Given the description of an element on the screen output the (x, y) to click on. 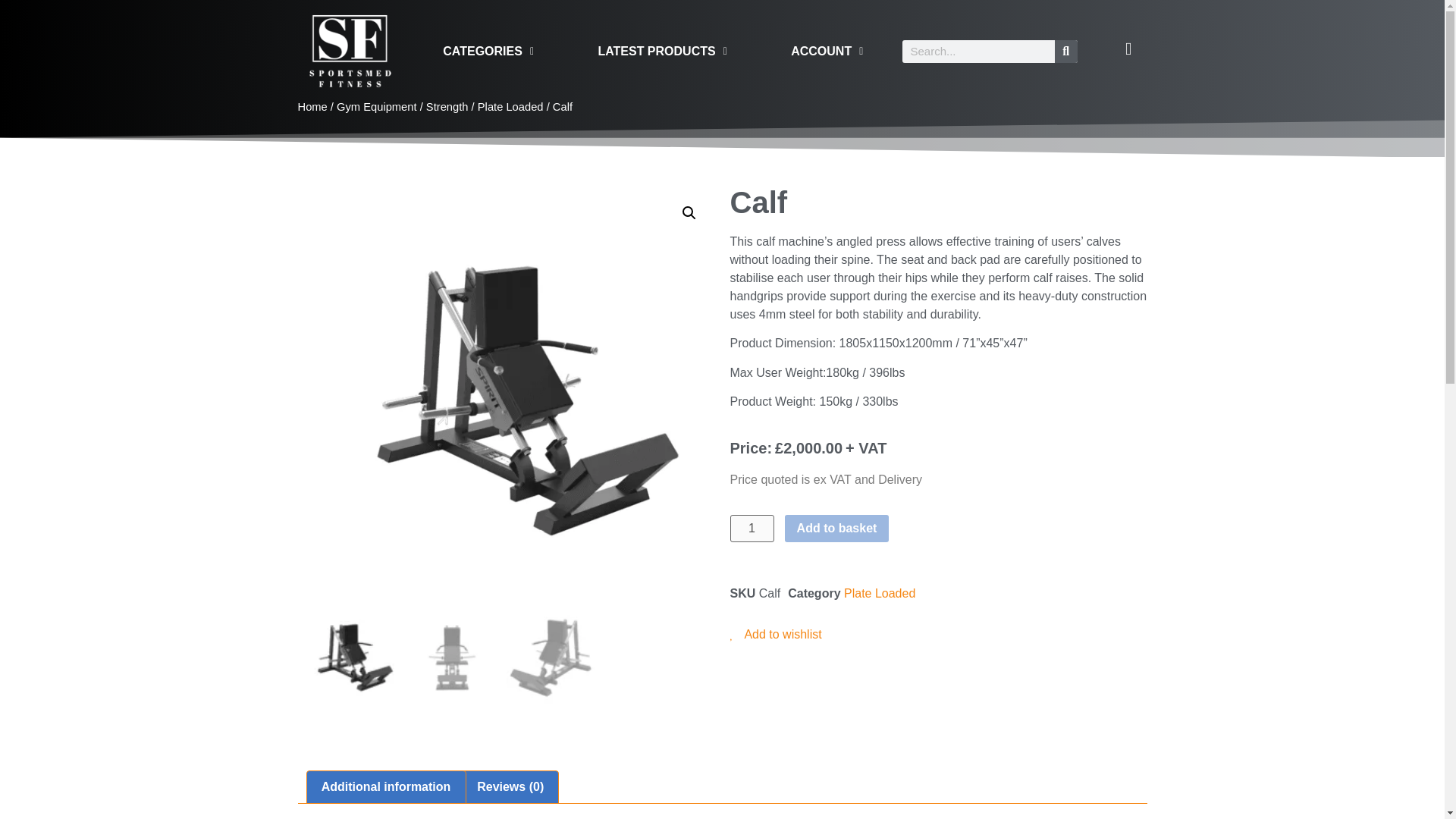
CATEGORIES (488, 50)
1 (751, 528)
LATEST PRODUCTS (662, 50)
